Given the description of an element on the screen output the (x, y) to click on. 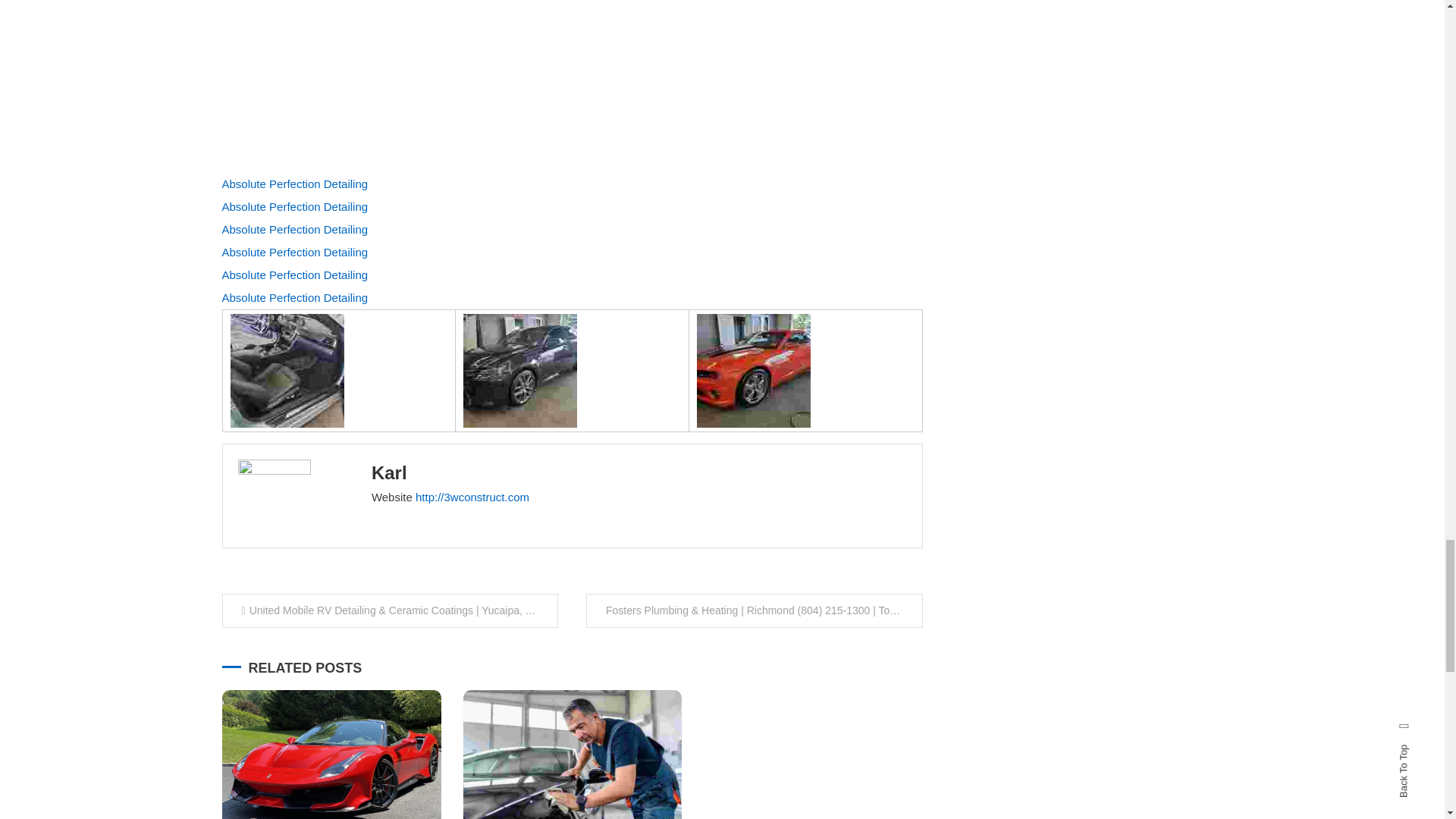
Posts by Karl (389, 472)
